Given the description of an element on the screen output the (x, y) to click on. 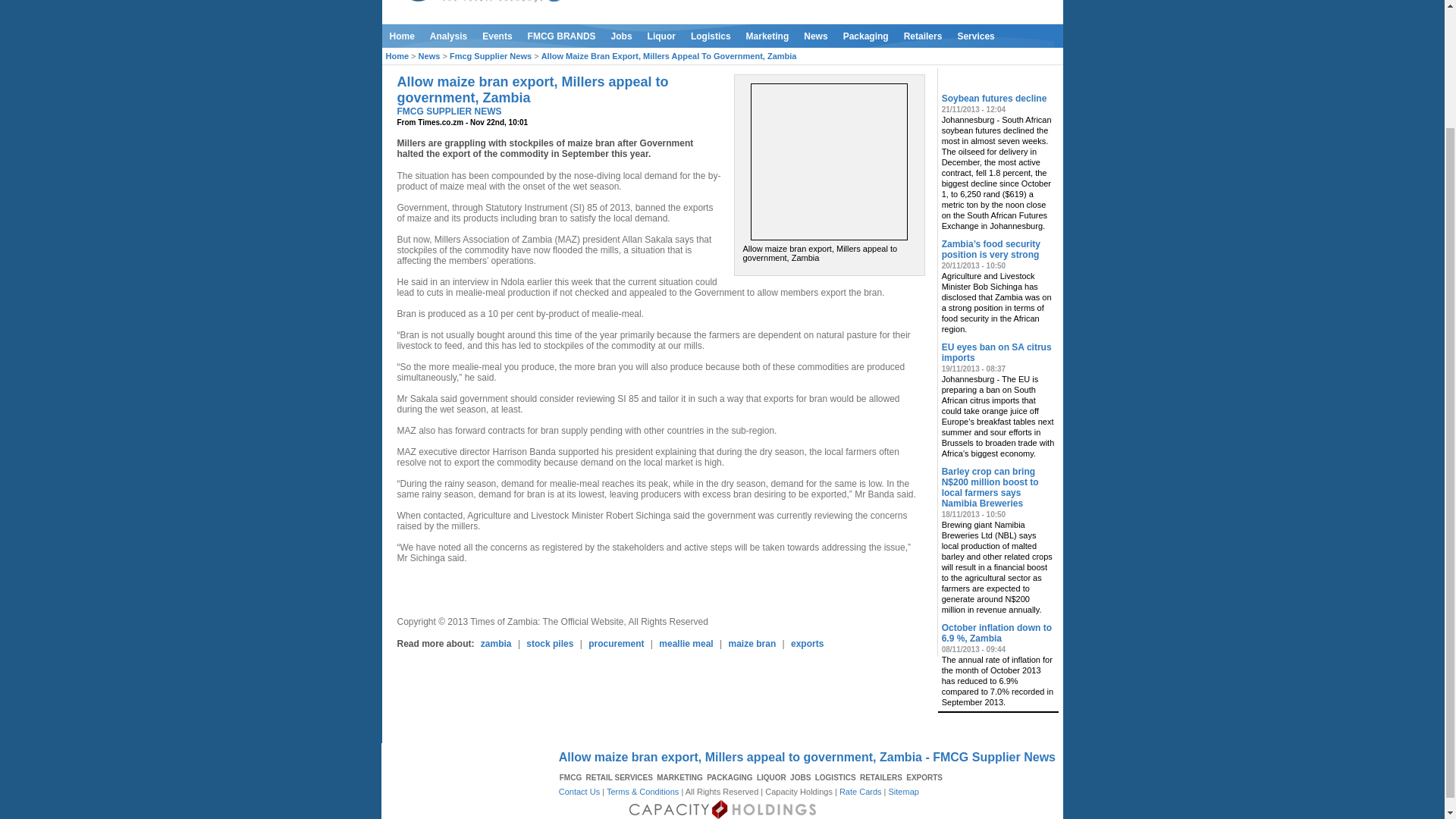
Home (401, 35)
Events (496, 35)
FMCG BRANDS (561, 35)
Events (496, 35)
Analysis (448, 35)
Analysis (448, 35)
Home (401, 35)
